Given the description of an element on the screen output the (x, y) to click on. 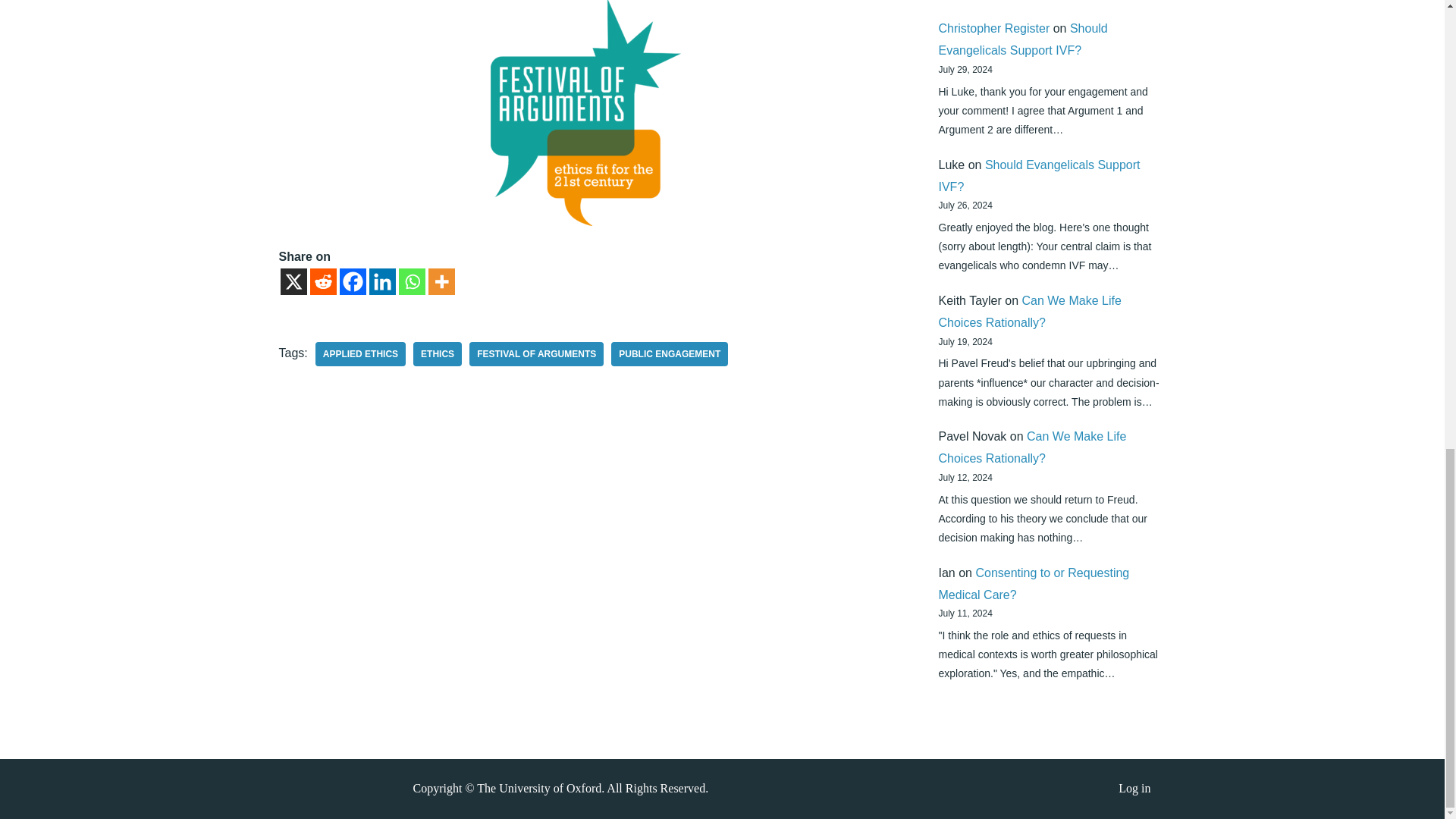
applied ethics (360, 354)
public engagement (669, 354)
ETHICS (437, 354)
ethics (437, 354)
Reddit (322, 281)
PUBLIC ENGAGEMENT (669, 354)
X (294, 281)
More (441, 281)
festival of arguments (536, 354)
FESTIVAL OF ARGUMENTS (536, 354)
APPLIED ETHICS (360, 354)
Linkedin (381, 281)
Facebook (352, 281)
Whatsapp (411, 281)
